Given the description of an element on the screen output the (x, y) to click on. 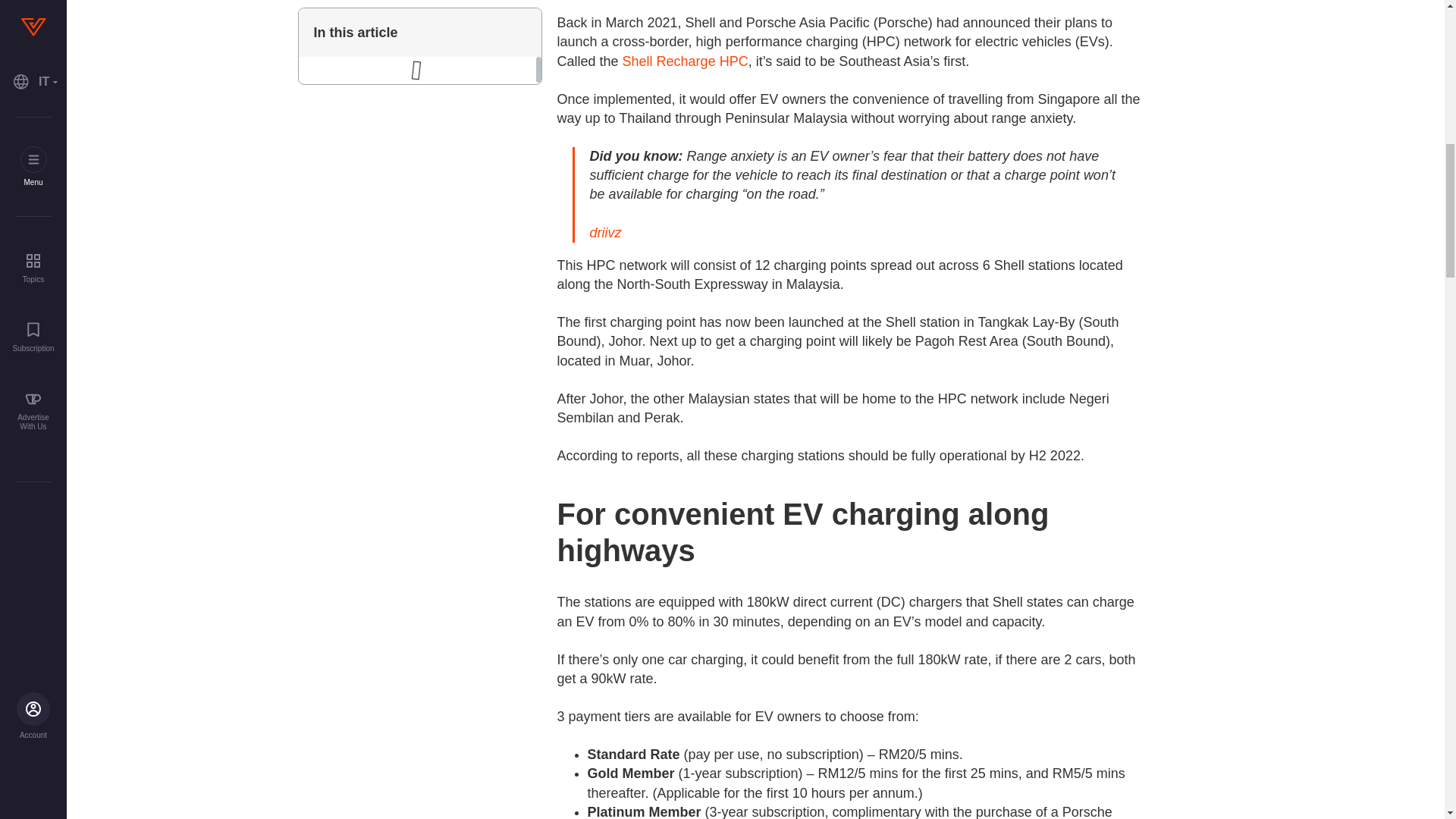
Shell Recharge HPC (685, 60)
driivz (605, 232)
